Given the description of an element on the screen output the (x, y) to click on. 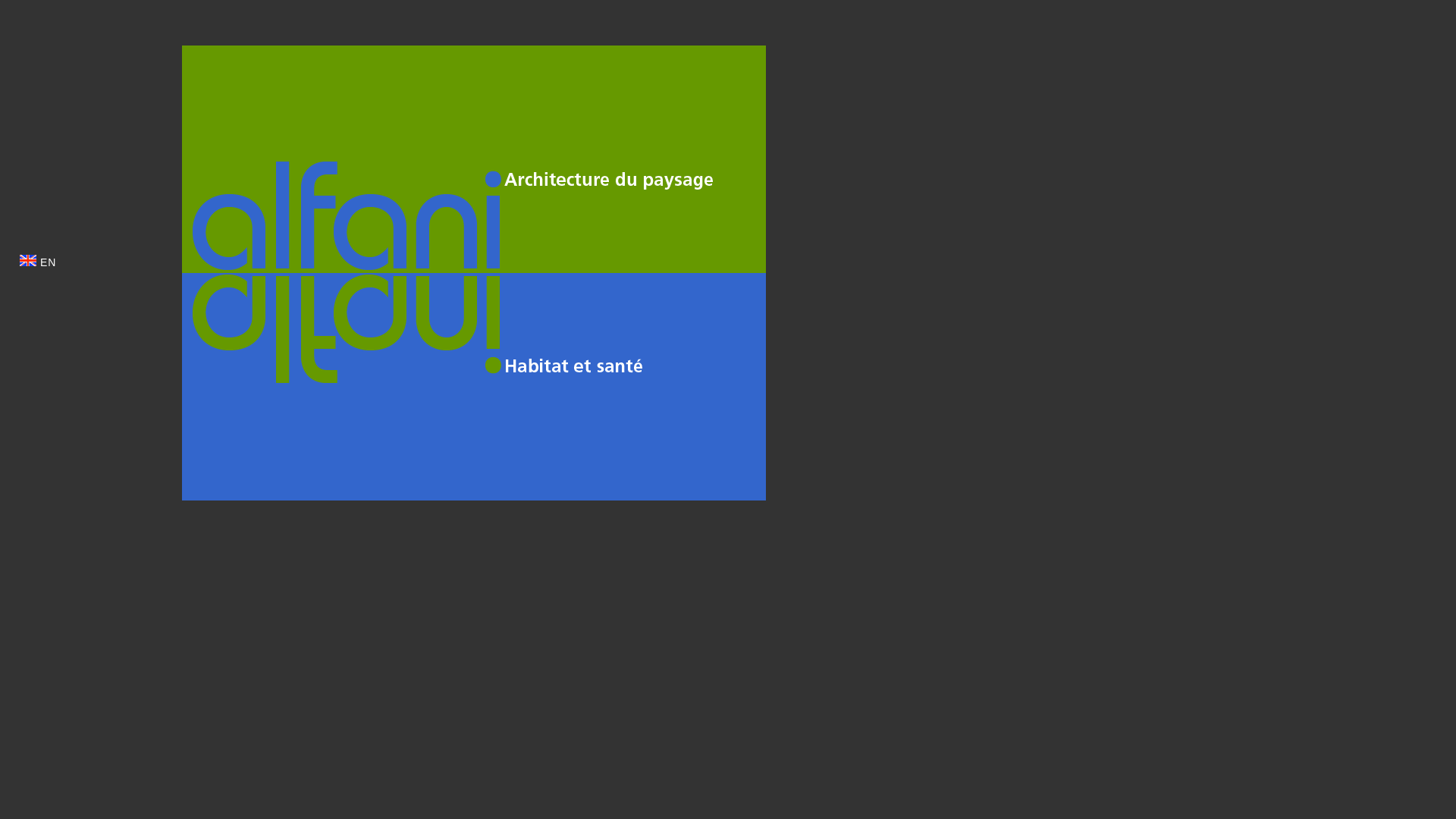
EN Element type: text (37, 262)
